Given the description of an element on the screen output the (x, y) to click on. 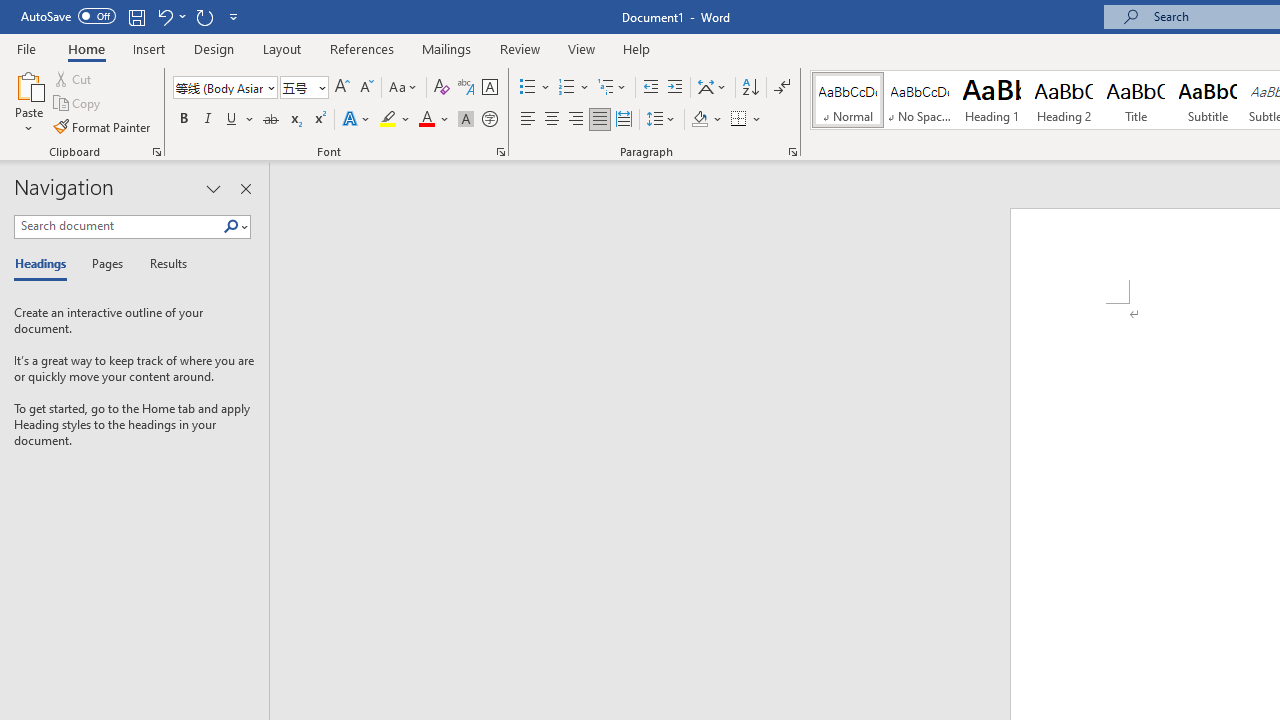
Title (1135, 100)
